Given the description of an element on the screen output the (x, y) to click on. 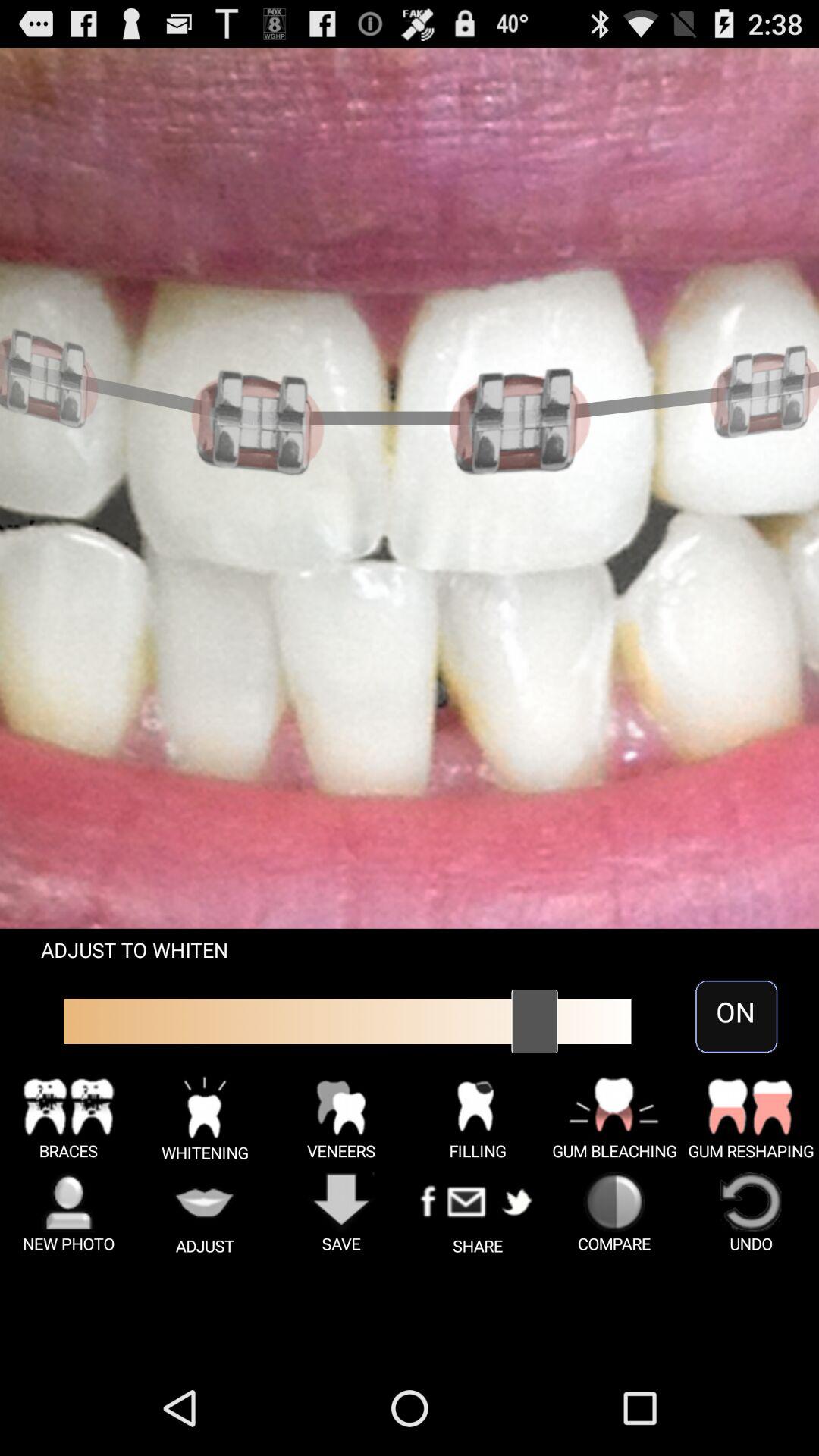
swipe until the on icon (736, 1016)
